Given the description of an element on the screen output the (x, y) to click on. 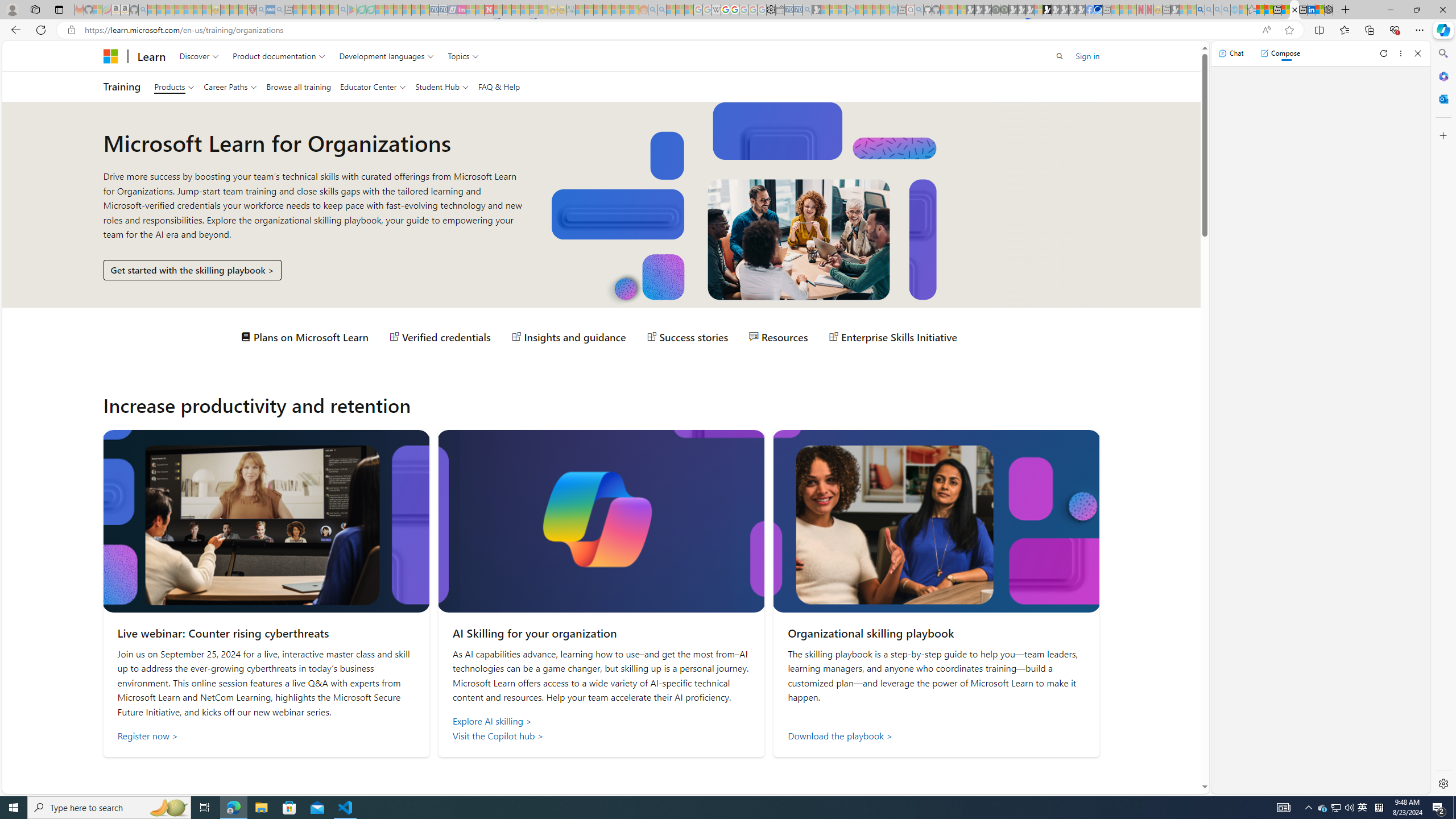
Microsoft Learn for Organizations | Microsoft Learn (1294, 9)
google - Search - Sleeping (342, 9)
Future Focus Report 2024 - Sleeping (1004, 9)
MSN - Sleeping (1174, 9)
Enterprise Skills Initiative (892, 336)
